Given the description of an element on the screen output the (x, y) to click on. 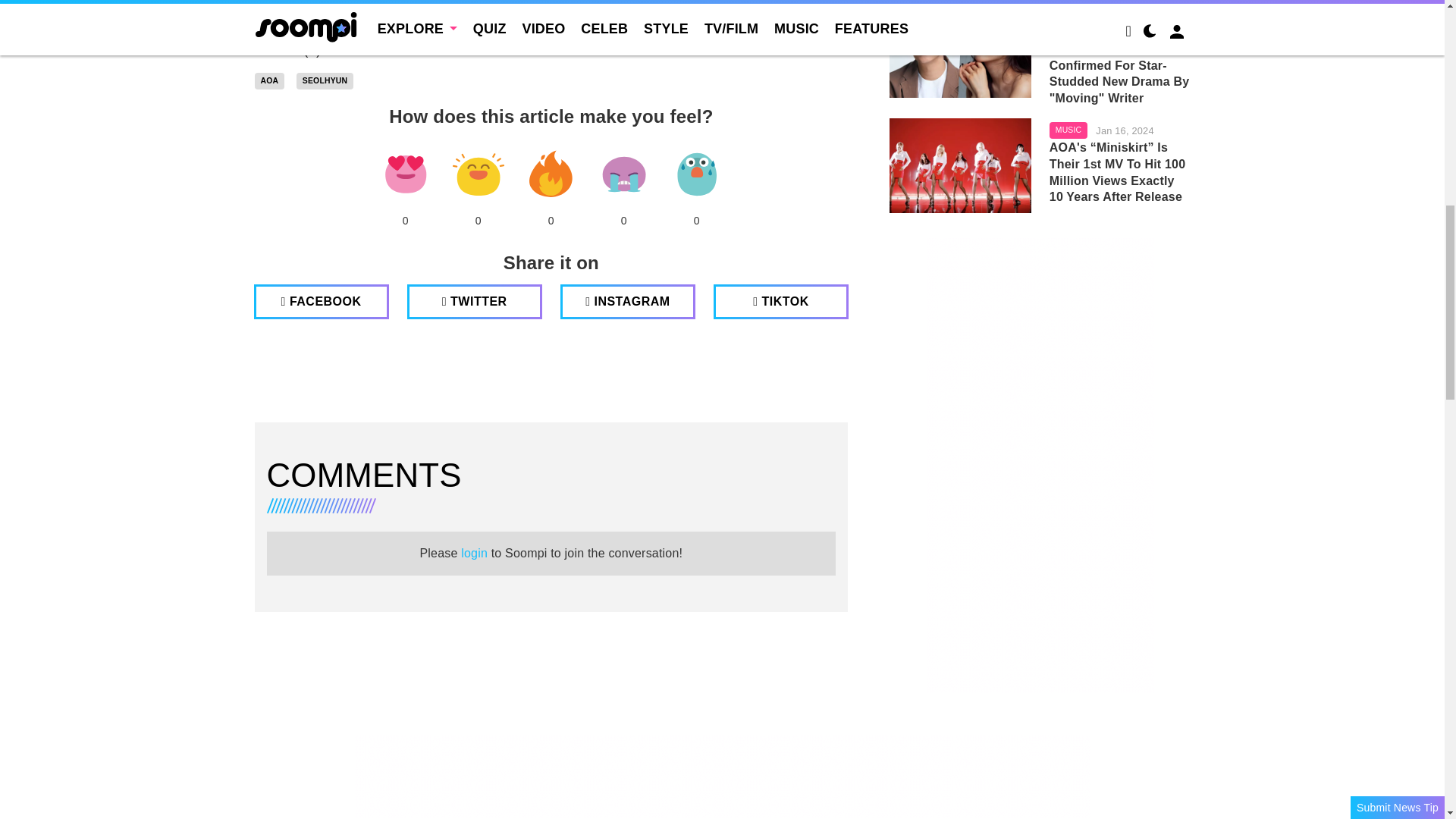
lol (478, 174)
FACEBOOK (320, 301)
LOL (478, 174)
Crying (623, 174)
cry (623, 174)
heart (405, 174)
OMG (696, 174)
Heart (405, 174)
Fire (550, 174)
fire (550, 174)
AOA (269, 80)
omg (696, 174)
SEOLHYUN (325, 80)
AOA (269, 80)
Seolhyun (325, 80)
